Given the description of an element on the screen output the (x, y) to click on. 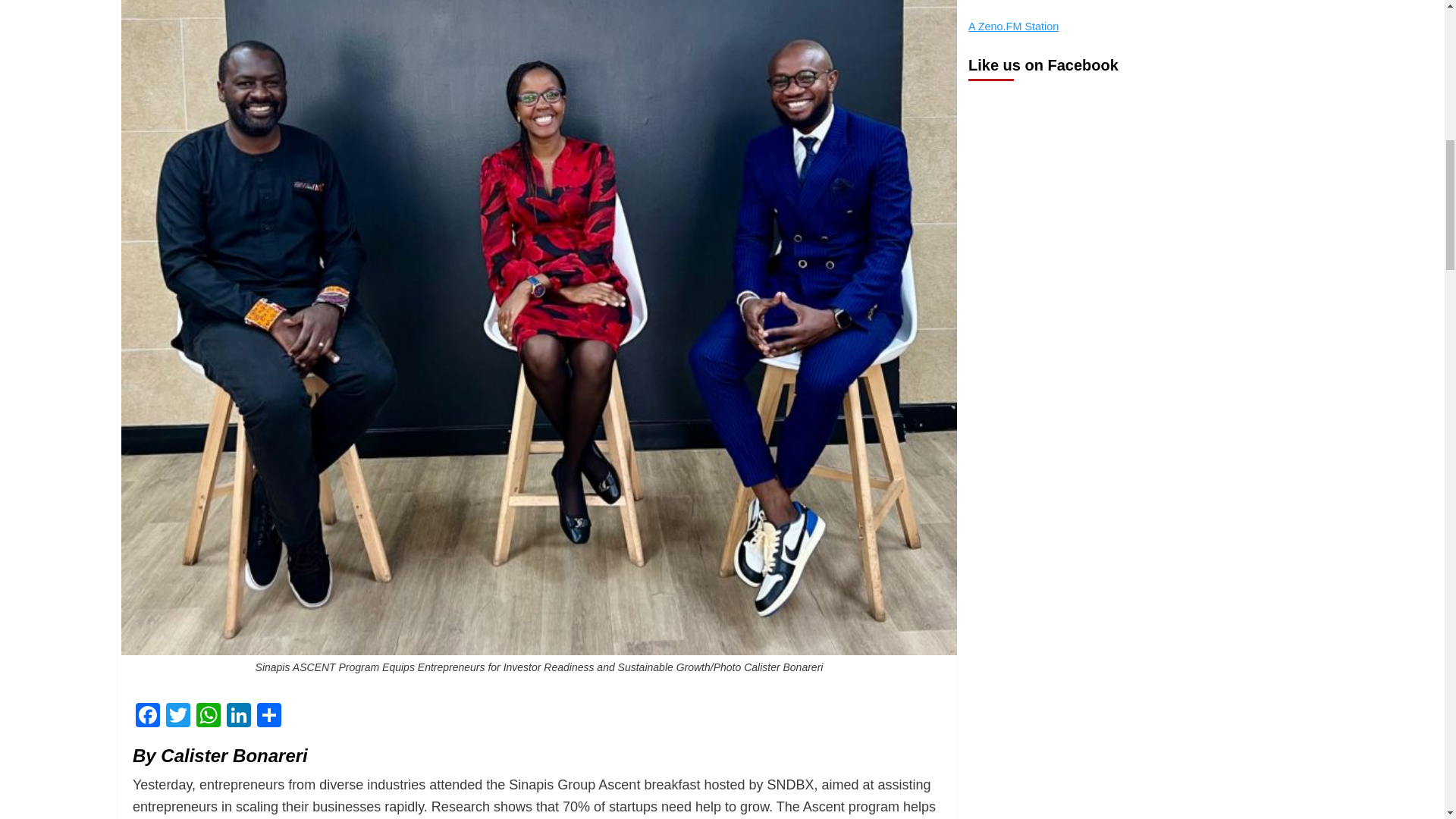
LinkedIn (238, 716)
WhatsApp (208, 716)
Facebook (147, 716)
WhatsApp (208, 716)
Share (268, 716)
Facebook (147, 716)
Twitter (178, 716)
LinkedIn (238, 716)
Twitter (178, 716)
